Given the description of an element on the screen output the (x, y) to click on. 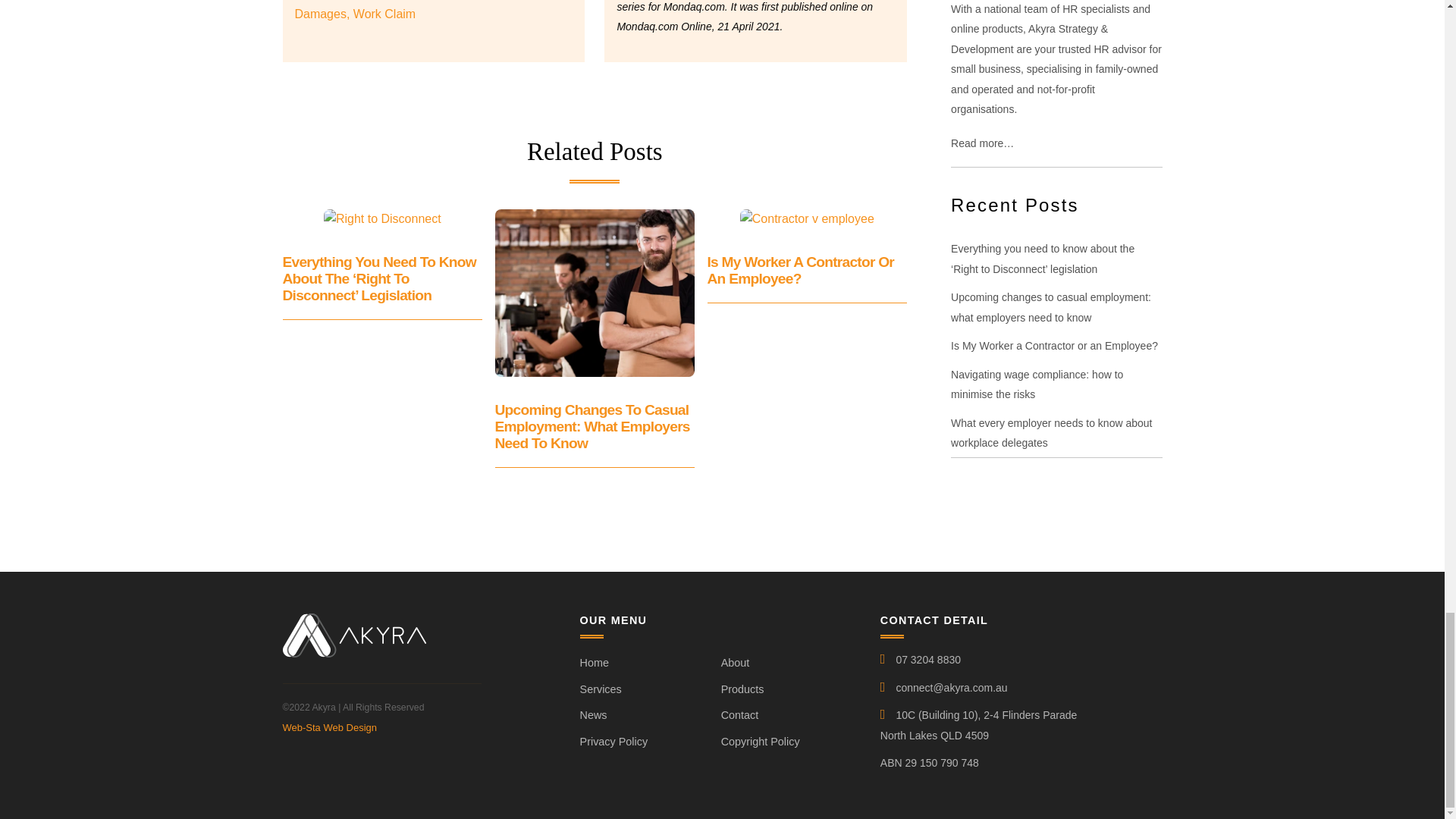
Right to Disconnect (382, 219)
Contractor v employee (807, 219)
Akyra (353, 651)
